Given the description of an element on the screen output the (x, y) to click on. 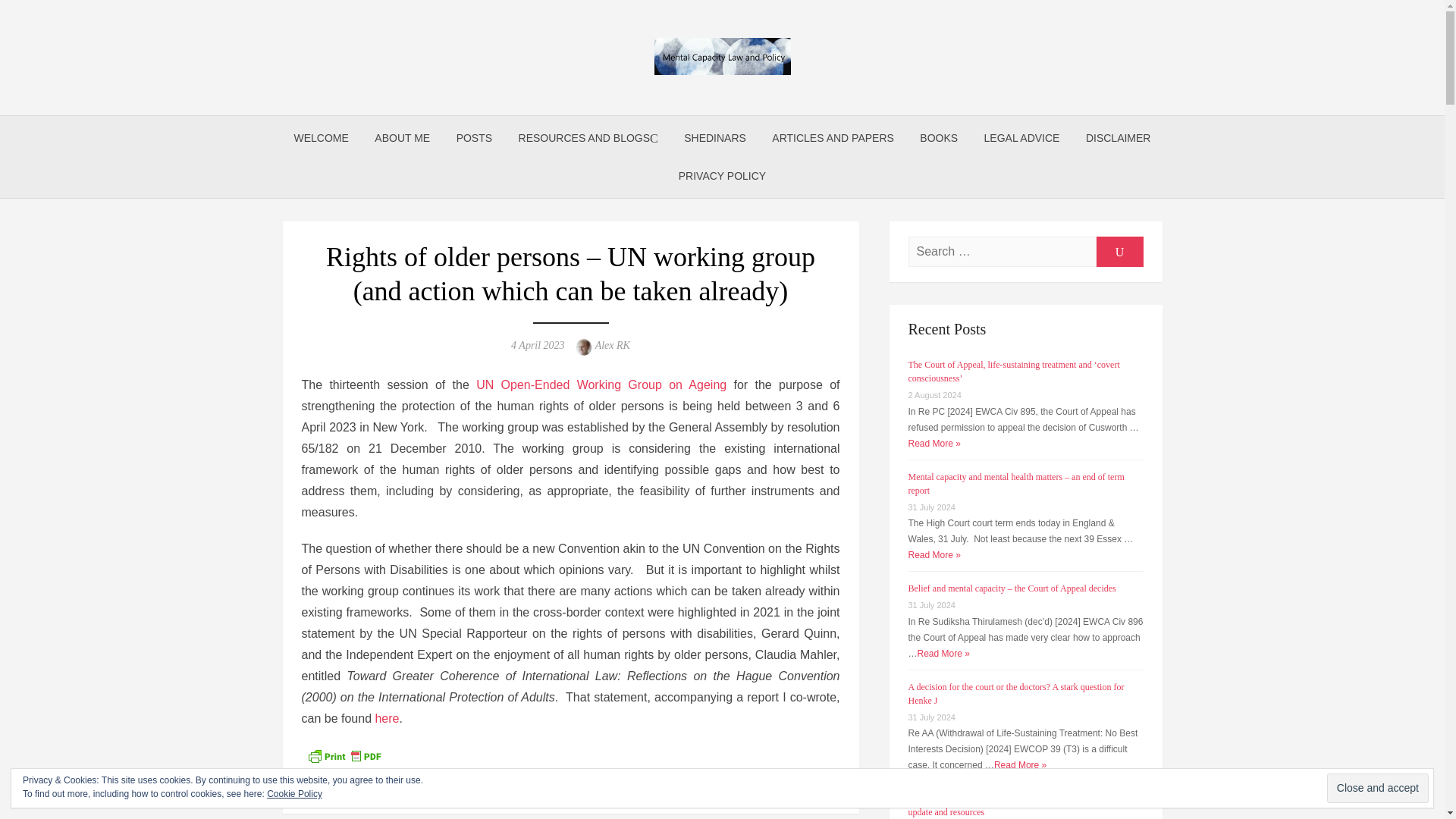
Close and accept (1377, 788)
Case comments (376, 787)
Alex RK (612, 345)
WELCOME (320, 137)
RESOURCES AND BLOGS (587, 137)
PRIVACY POLICY (721, 175)
DISCLAIMER (1117, 137)
4 April 2023 (537, 345)
LEGAL ADVICE (1021, 137)
ARTICLES AND PAPERS (832, 137)
